Given the description of an element on the screen output the (x, y) to click on. 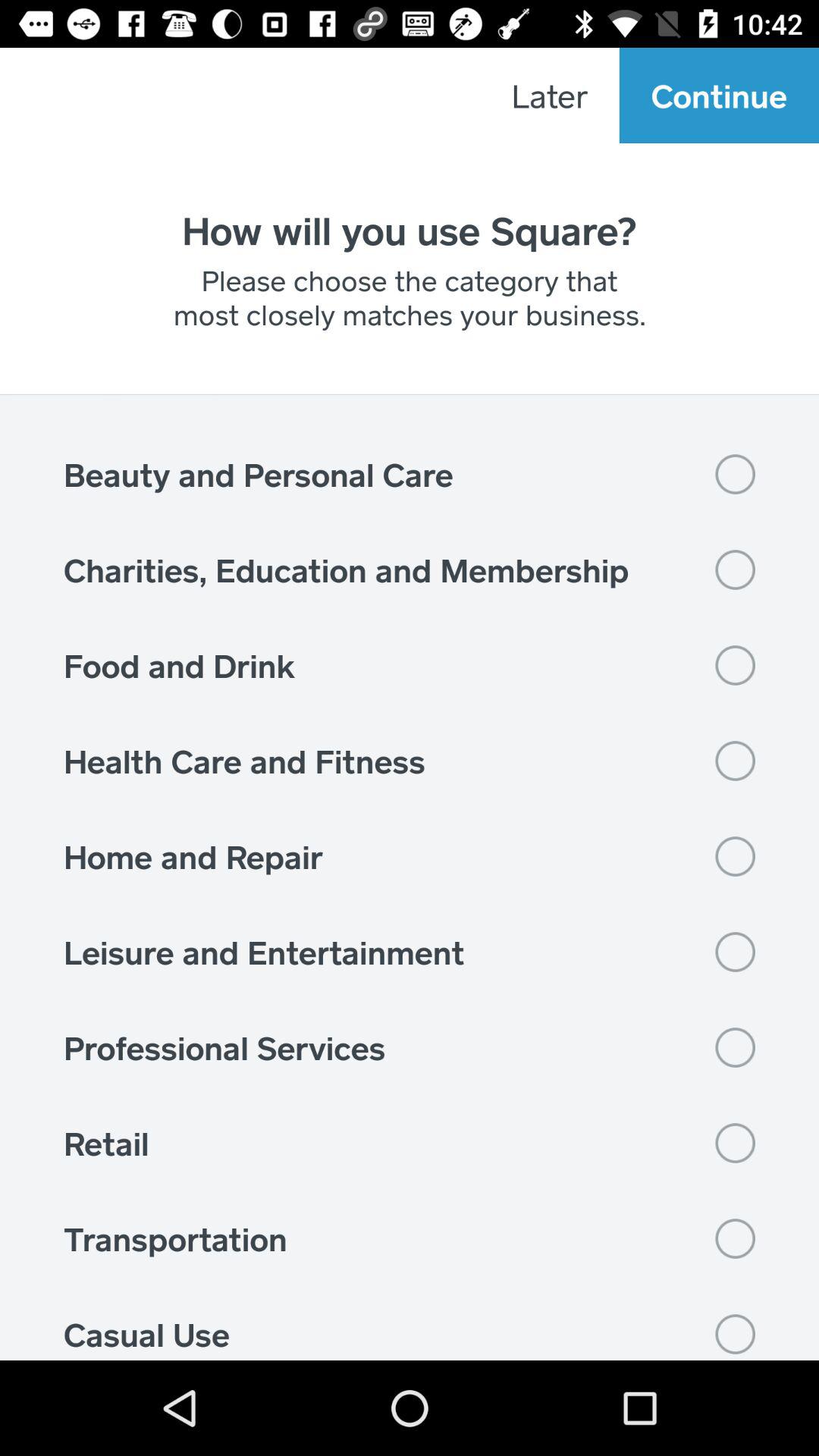
flip until the retail icon (409, 1142)
